Given the description of an element on the screen output the (x, y) to click on. 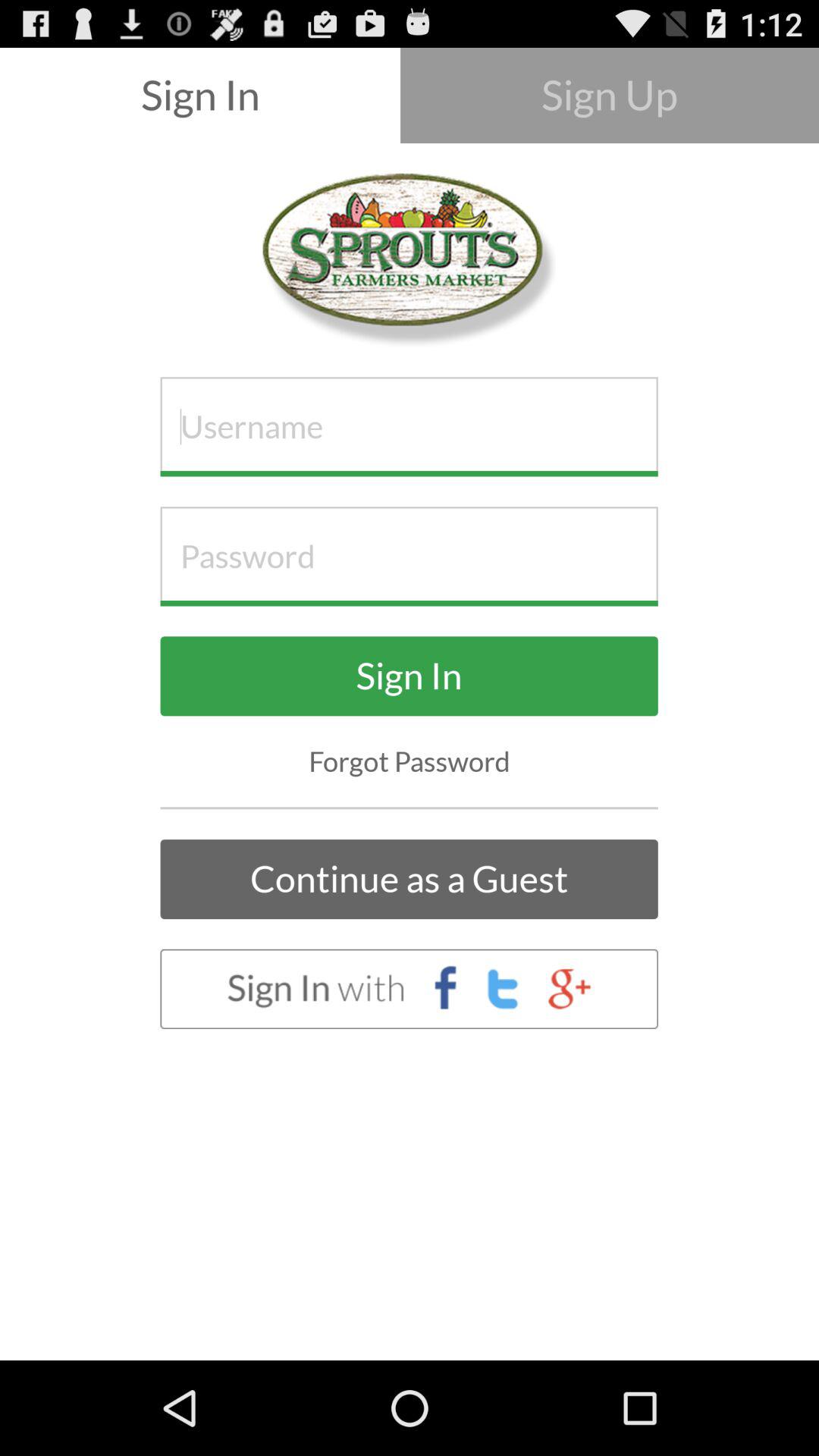
turn on button next to the sign in (609, 95)
